Given the description of an element on the screen output the (x, y) to click on. 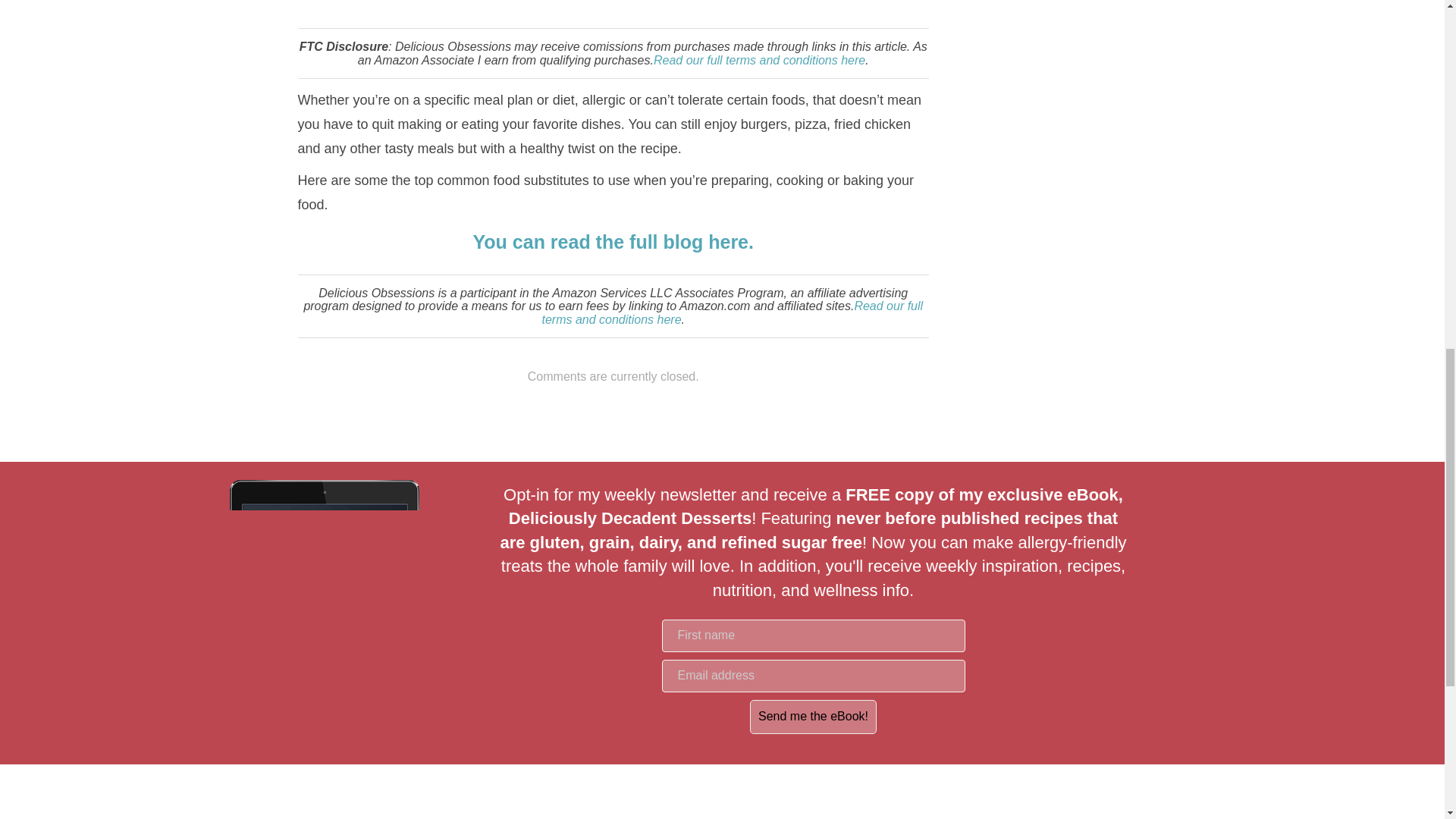
You can read the full blog here. (613, 241)
Send me the eBook! (812, 716)
Read our full terms and conditions here (758, 60)
Read our full terms and conditions here (732, 312)
